Given the description of an element on the screen output the (x, y) to click on. 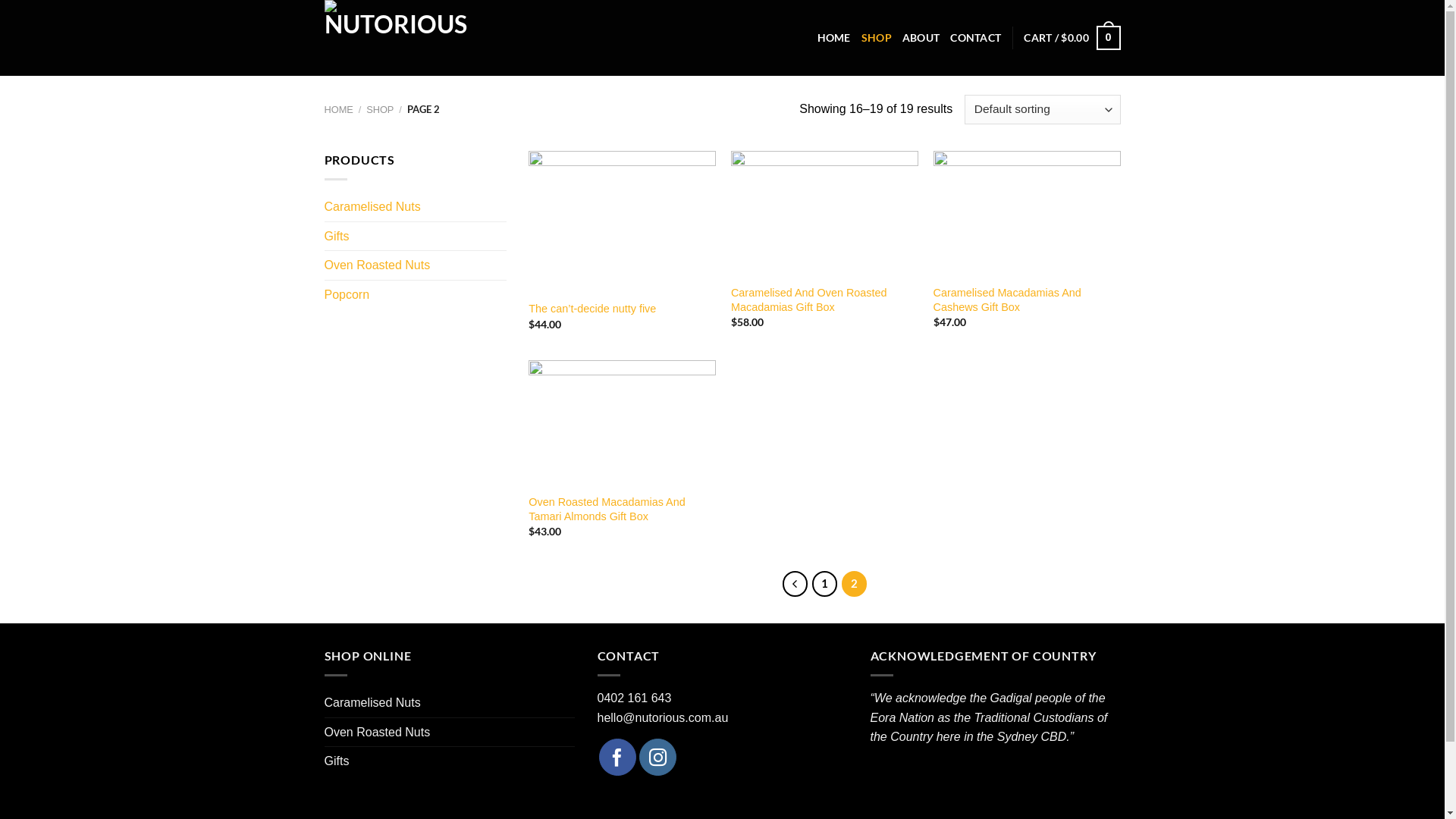
Caramelised Macadamias And Cashews Gift Box Element type: text (1026, 299)
CART / $0.00
0 Element type: text (1071, 37)
Caramelised Nuts Element type: text (415, 206)
Caramelised And Oven Roasted Macadamias Gift Box Element type: text (824, 299)
HOME Element type: text (338, 109)
Oven Roasted Nuts Element type: text (377, 732)
Caramelised Nuts Element type: text (372, 702)
Popcorn Element type: text (415, 294)
Gifts Element type: text (336, 760)
Gifts Element type: text (415, 236)
1 Element type: text (824, 583)
Nutorious - Hand Cooked Caramelised Nuts Element type: hover (400, 37)
ABOUT Element type: text (920, 37)
SHOP Element type: text (876, 37)
CONTACT Element type: text (975, 37)
HOME Element type: text (833, 37)
Oven Roasted Macadamias And Tamari Almonds Gift Box Element type: text (621, 509)
Oven Roasted Nuts Element type: text (415, 265)
hello@nutorious.com.au Element type: text (662, 717)
SHOP Element type: text (379, 109)
